Given the description of an element on the screen output the (x, y) to click on. 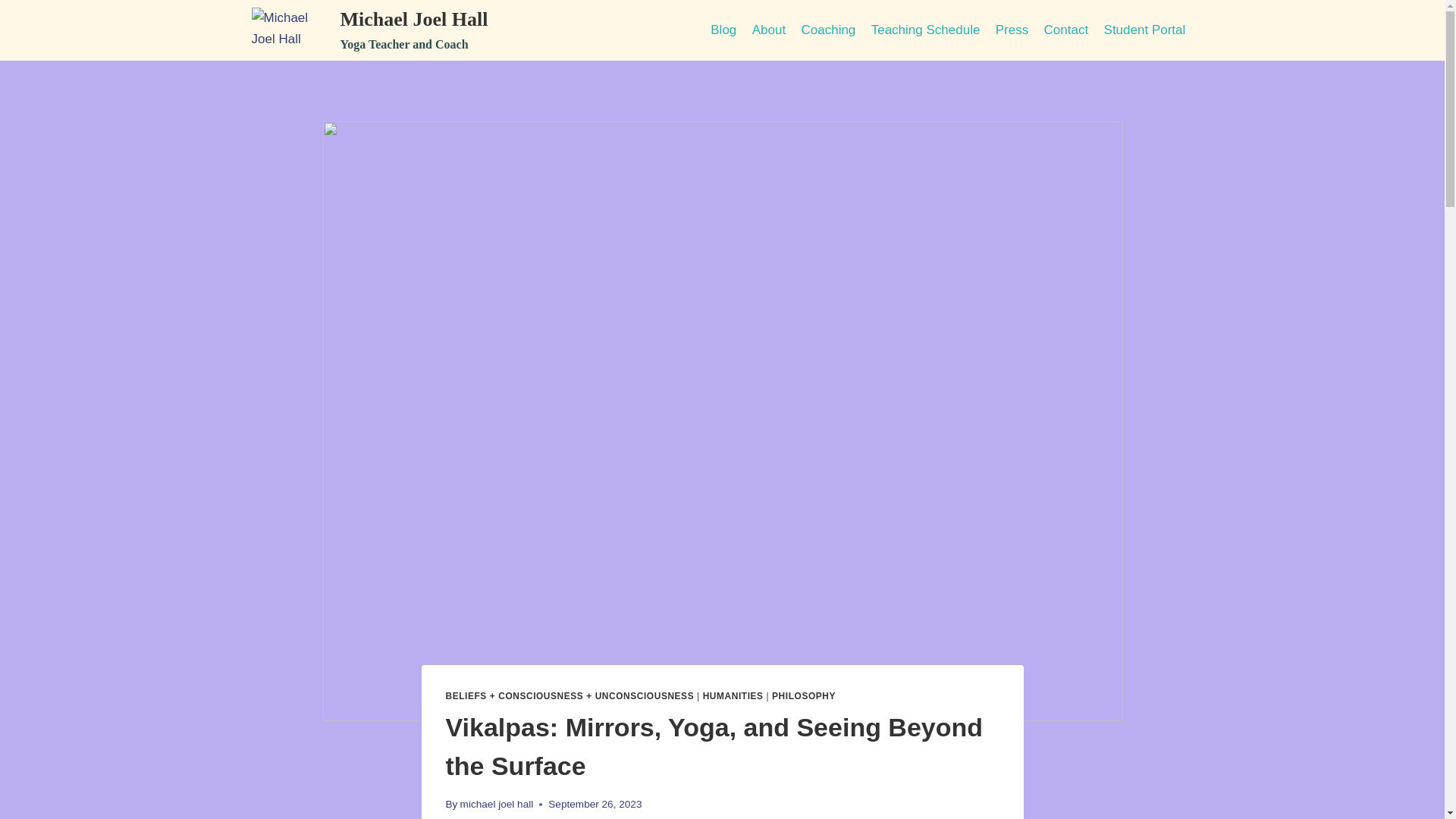
PHILOSOPHY (803, 696)
HUMANITIES (732, 696)
Teaching Schedule (925, 30)
Coaching (828, 30)
Press (1012, 30)
About (768, 30)
Student Portal (1144, 30)
michael joel hall (497, 803)
Contact (369, 30)
Blog (1065, 30)
